Given the description of an element on the screen output the (x, y) to click on. 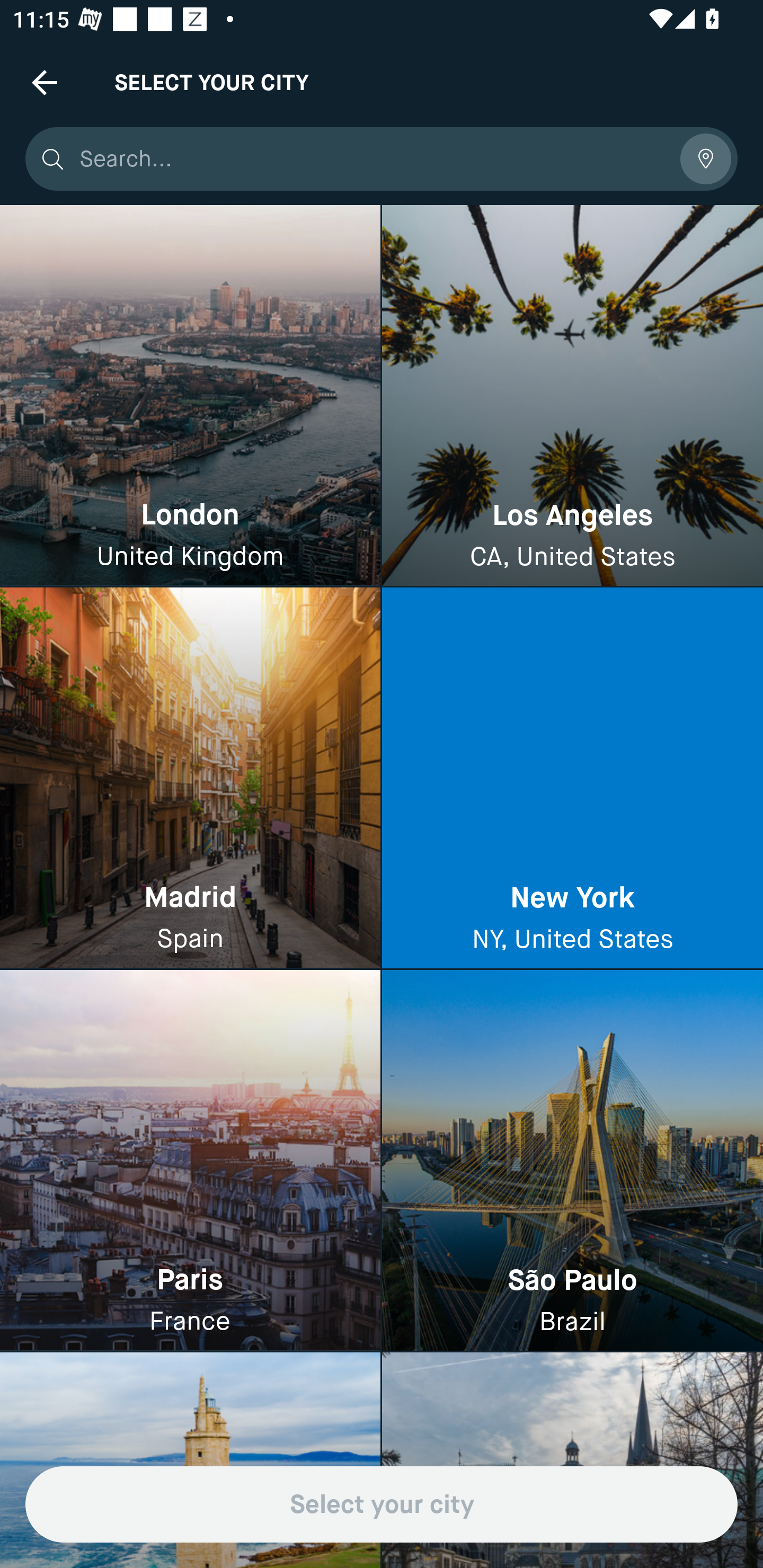
Navigate up (44, 82)
Search... (373, 159)
London United Kingdom (190, 395)
Los Angeles CA, United States (572, 395)
Madrid Spain (190, 778)
New York NY, United States (572, 778)
Paris France (190, 1160)
São Paulo Brazil (572, 1160)
Select your city (381, 1504)
